Given the description of an element on the screen output the (x, y) to click on. 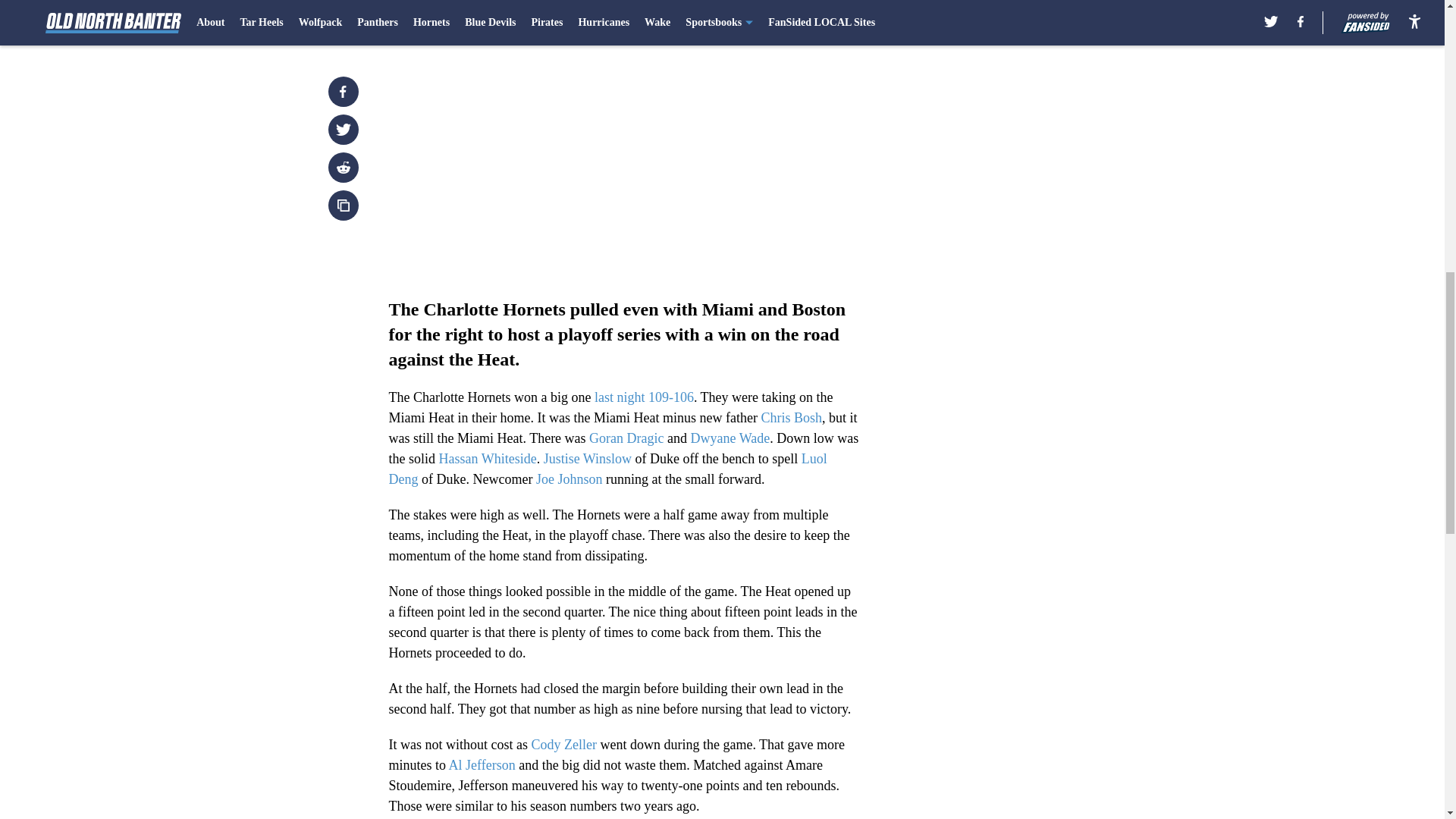
Al Jefferson (481, 765)
Joe Johnson (568, 478)
Goran Dragic (626, 437)
Luol Deng (607, 468)
Hassan Whiteside (486, 458)
Cody Zeller (563, 744)
Justise Winslow (587, 458)
last night 109-106 (644, 396)
Chris Bosh (791, 417)
Dwyane Wade (730, 437)
